Given the description of an element on the screen output the (x, y) to click on. 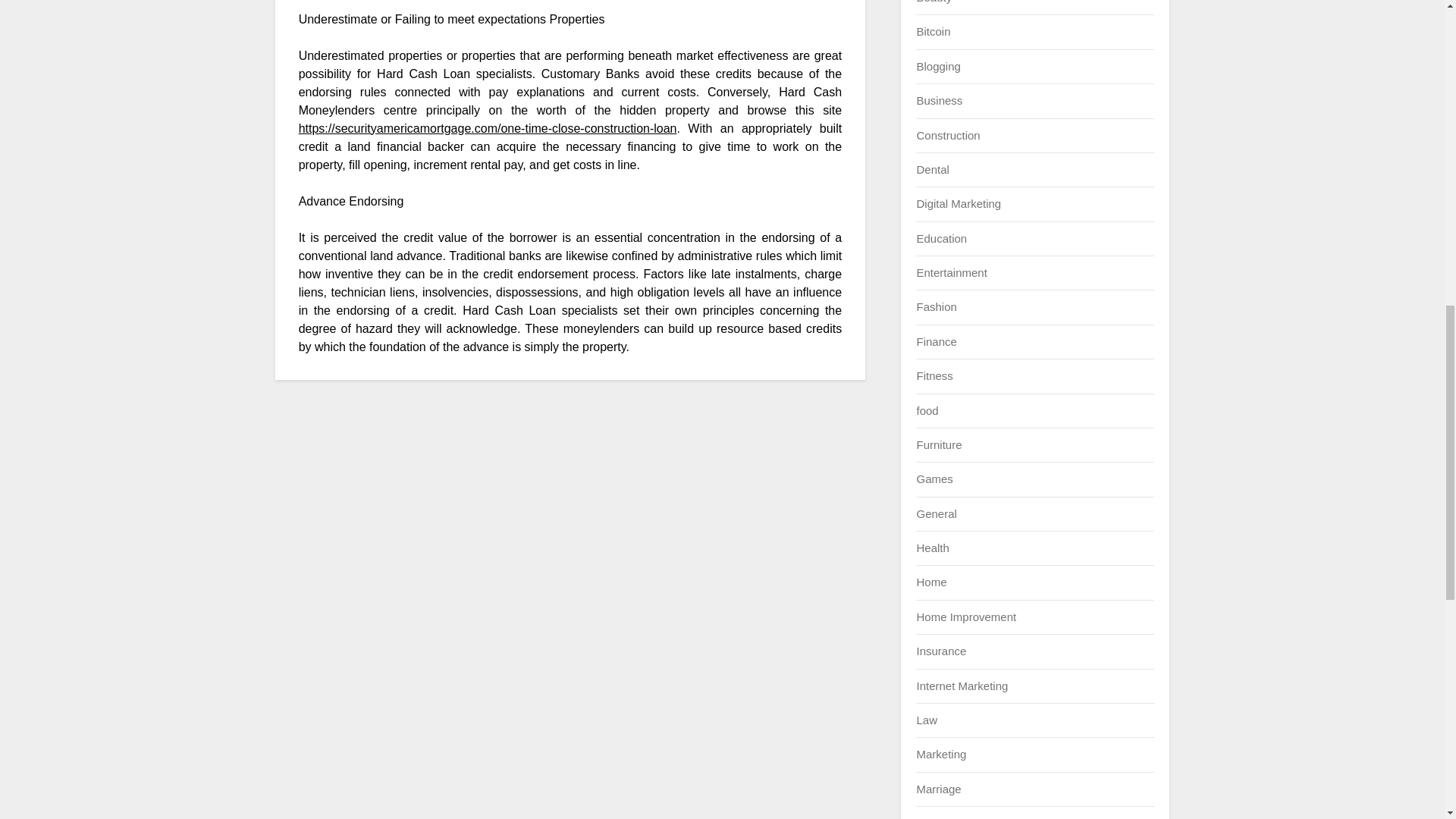
food (926, 410)
Fashion (935, 306)
News (929, 817)
Entertainment (951, 272)
Digital Marketing (958, 203)
Education (940, 237)
Finance (935, 341)
Health (932, 547)
Marketing (940, 753)
Beauty (933, 2)
